Given the description of an element on the screen output the (x, y) to click on. 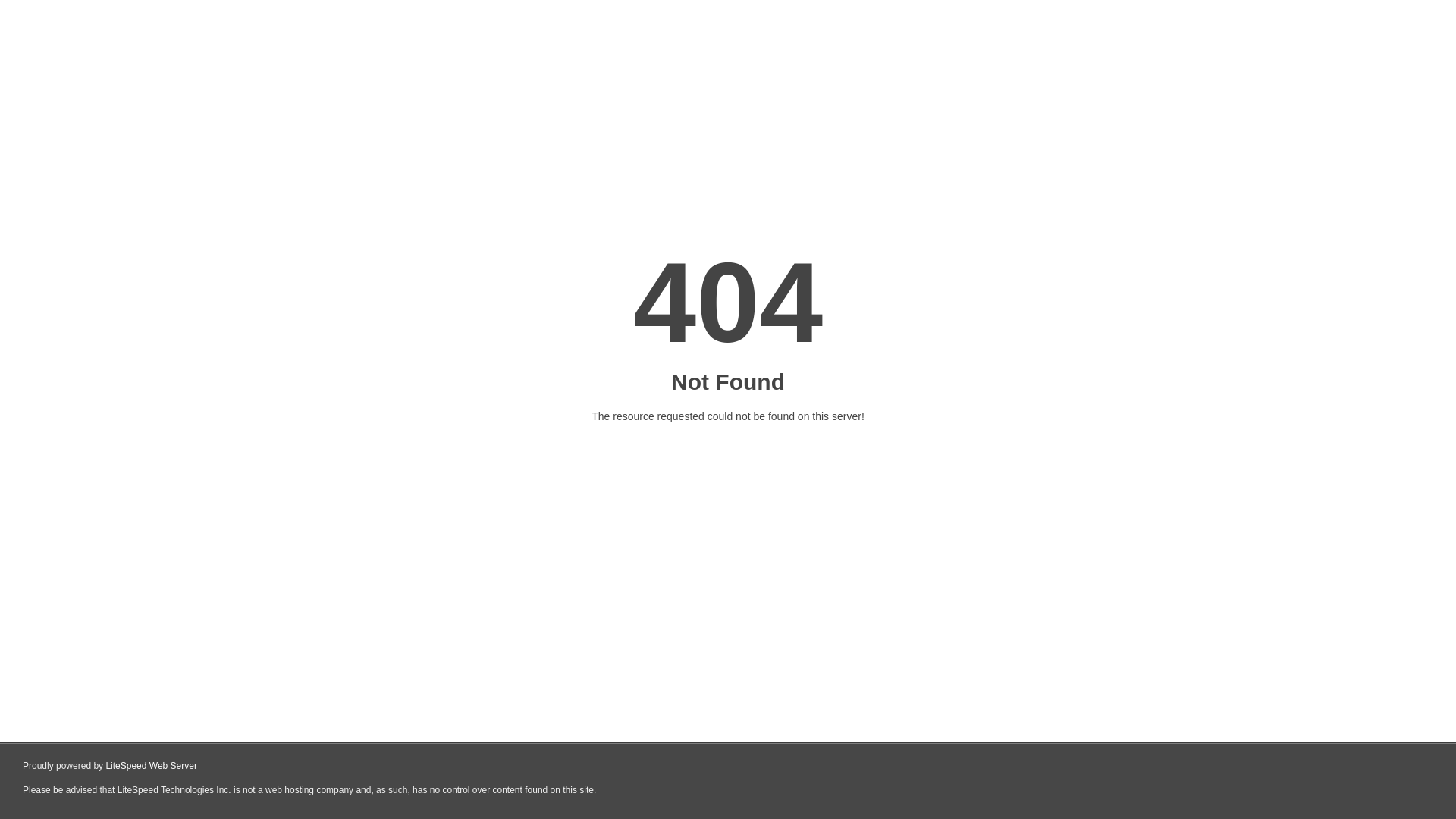
LiteSpeed Web Server Element type: text (151, 765)
